Given the description of an element on the screen output the (x, y) to click on. 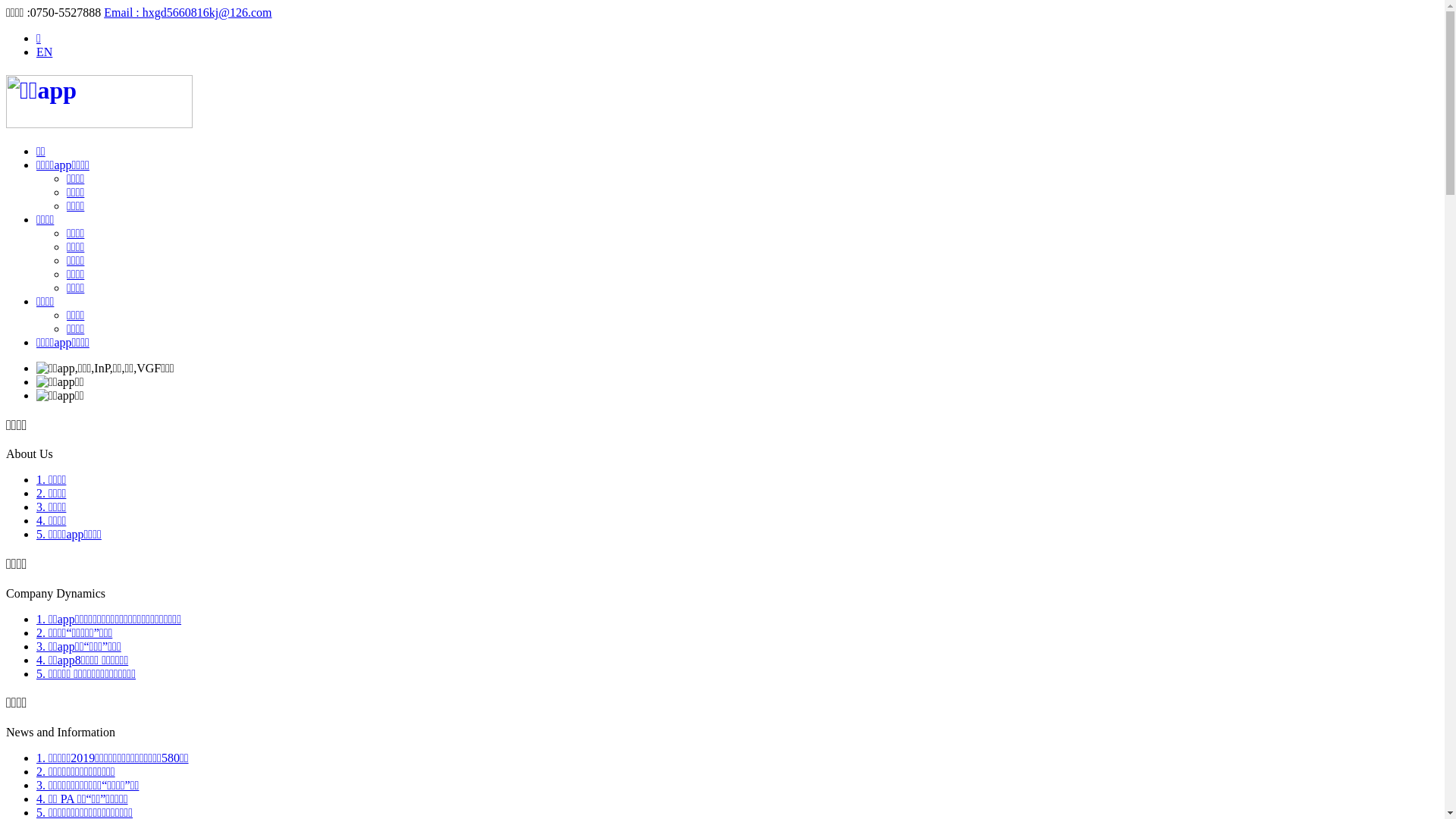
Email : hxgd5660816kj@126.com Element type: text (187, 12)
EN Element type: text (44, 51)
